Given the description of an element on the screen output the (x, y) to click on. 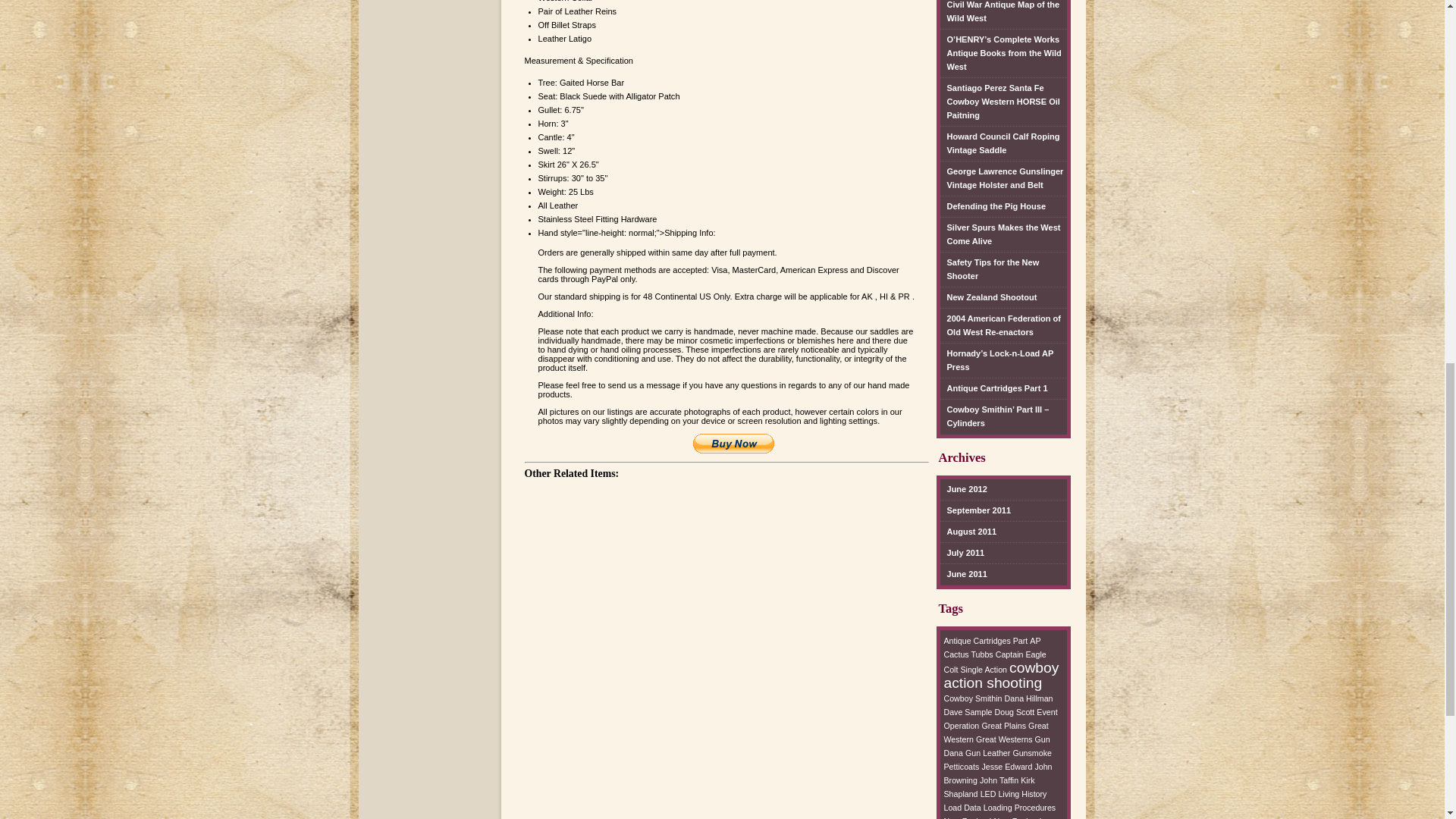
Buy Now (733, 443)
George Lawrence Gunslinger Vintage Holster and Belt (1003, 178)
August 2011 (968, 531)
Santiago Perez Santa Fe Cowboy Western HORSE Oil Paitning (1003, 101)
Safety Tips for the New Shooter (1003, 269)
Howard Council Calf Roping Vintage Saddle (1003, 143)
New Zealand Shootout (988, 297)
Cactus Tubbs (967, 654)
Civil War Antique Map of the Wild West (1003, 14)
Antique Cartridges Part 1 (994, 388)
